Given the description of an element on the screen output the (x, y) to click on. 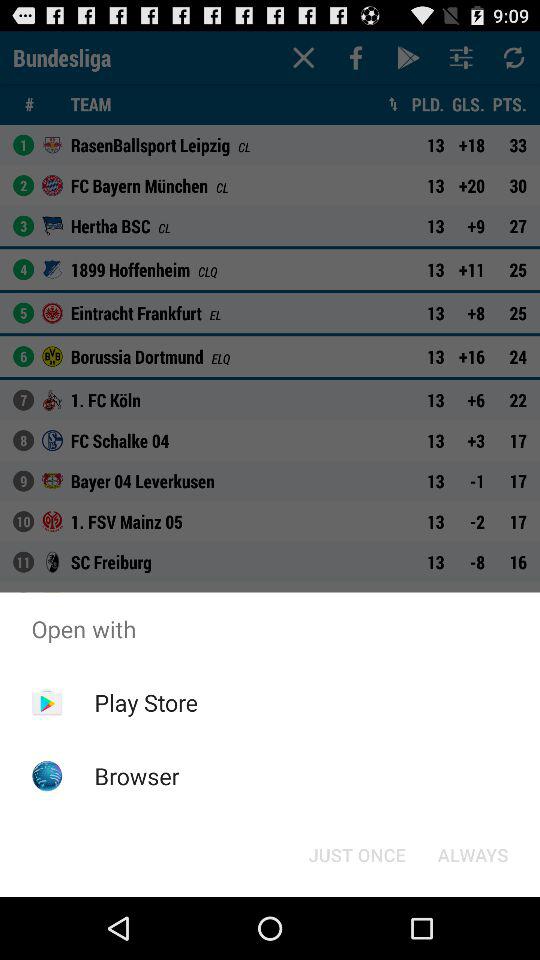
select the just once at the bottom (356, 854)
